Given the description of an element on the screen output the (x, y) to click on. 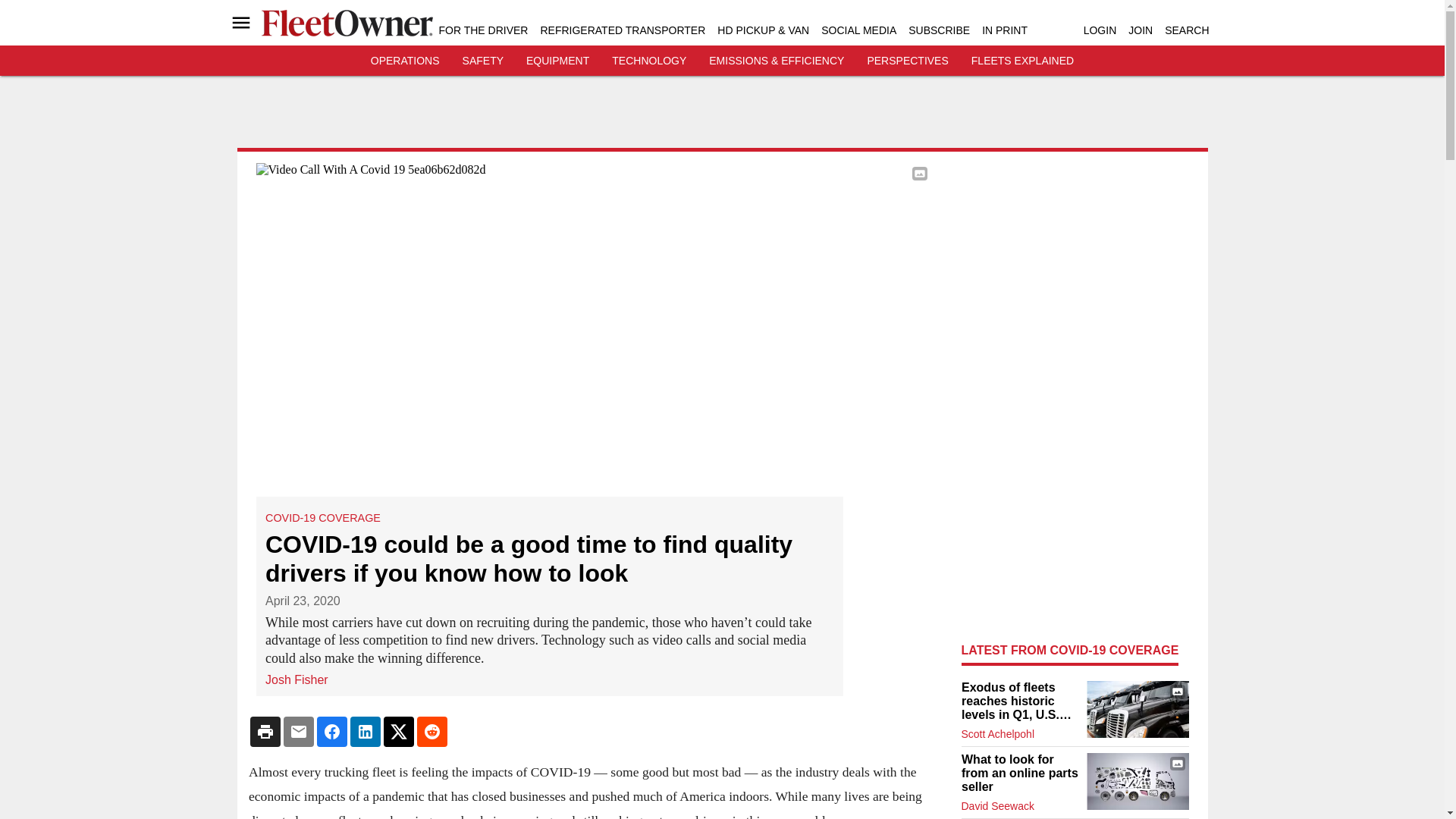
LOGIN (1099, 30)
TECHNOLOGY (648, 60)
SAFETY (483, 60)
IN PRINT (1004, 30)
FOR THE DRIVER (482, 30)
SEARCH (1186, 30)
EQUIPMENT (557, 60)
REFRIGERATED TRANSPORTER (622, 30)
SOCIAL MEDIA (858, 30)
